Given the description of an element on the screen output the (x, y) to click on. 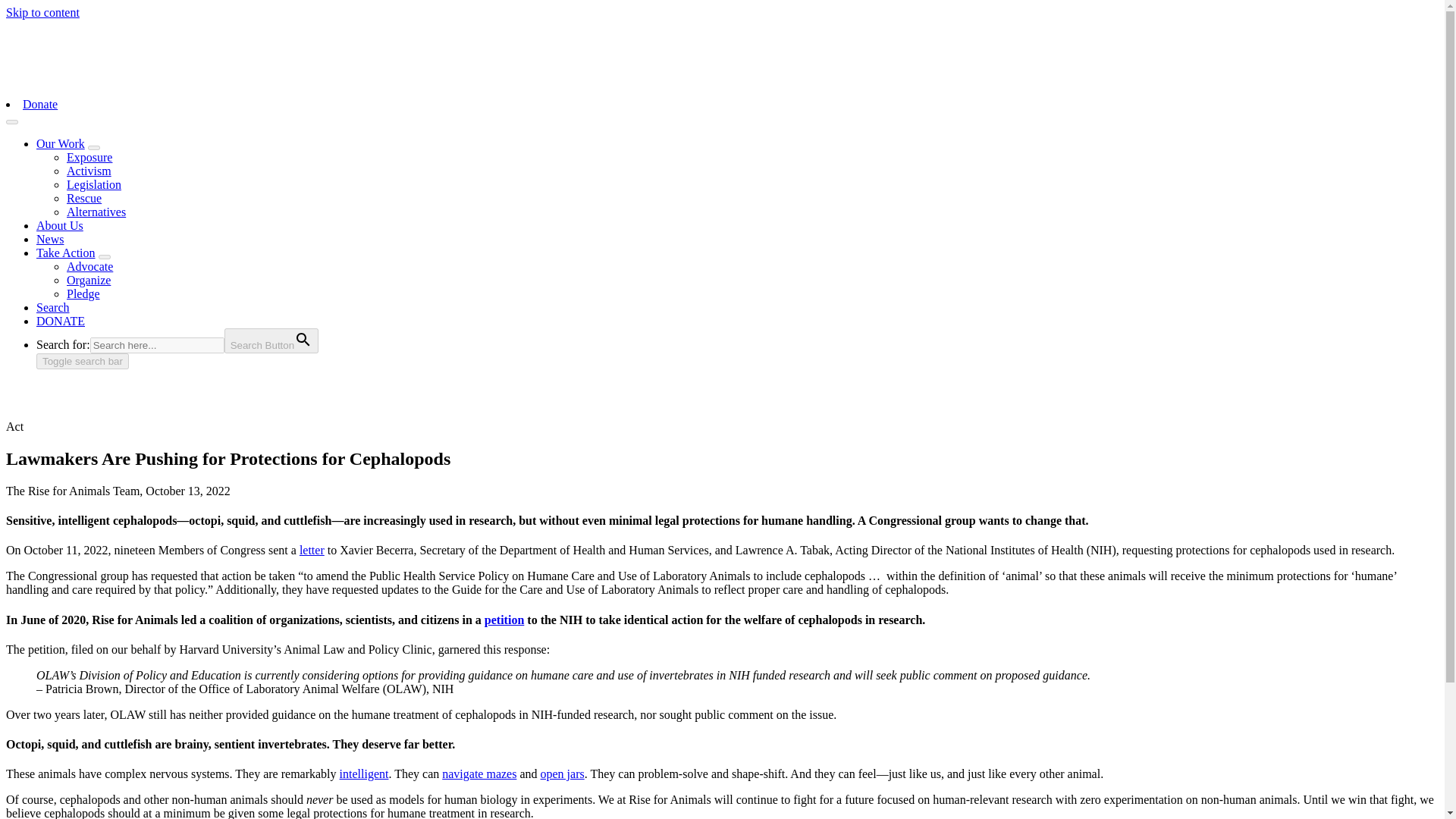
petition (504, 619)
Exposure (89, 156)
open jars (562, 773)
Mobile logo (52, 79)
Our Work (60, 143)
Activism (89, 170)
About Us (59, 225)
Desktop logo (65, 40)
Legislation (93, 184)
Alternatives (95, 211)
Toggle search bar (82, 360)
Donate (40, 103)
letter (311, 549)
Organize (88, 279)
Pledge (83, 293)
